Given the description of an element on the screen output the (x, y) to click on. 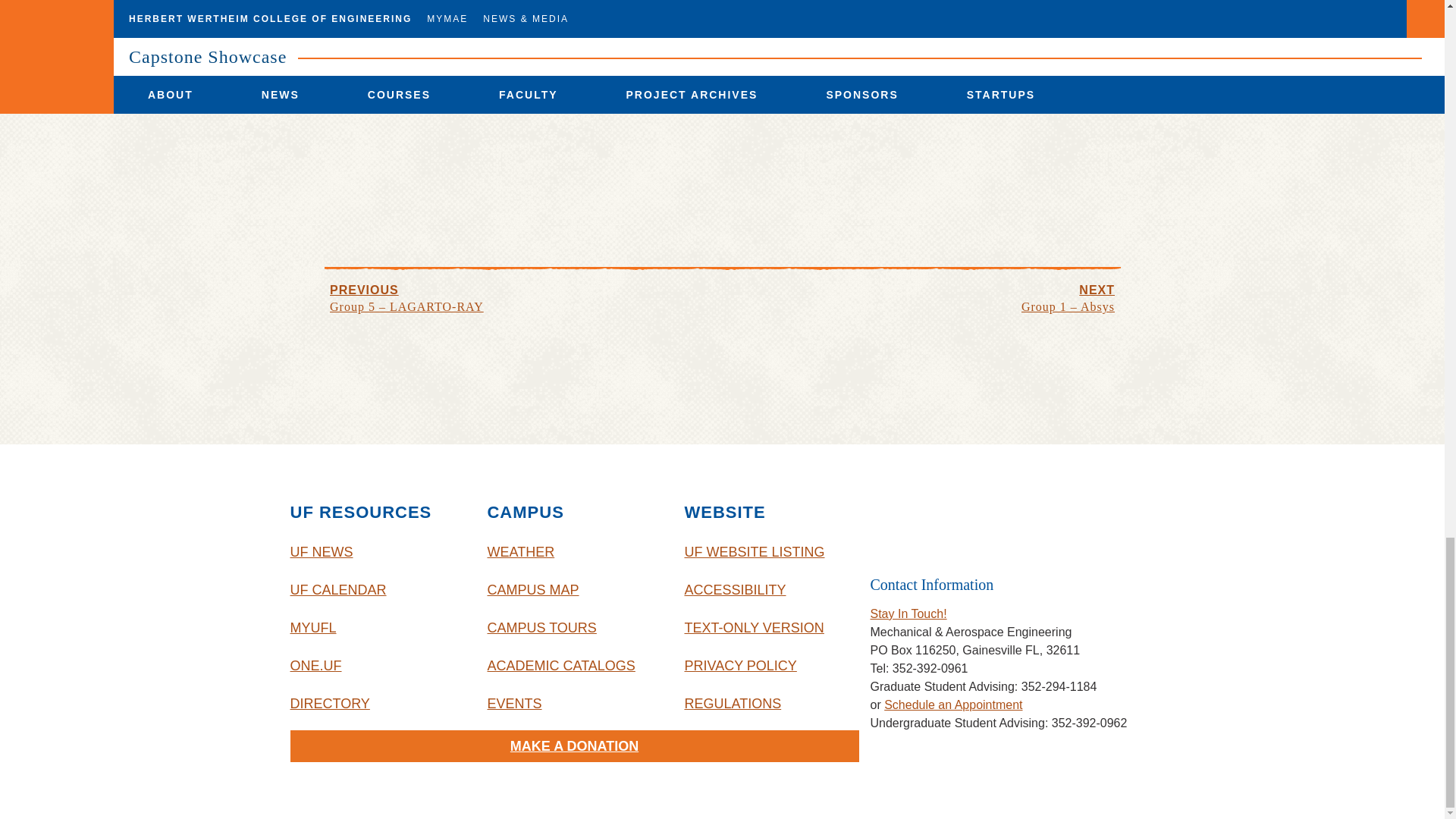
WEATHER (573, 551)
EVENTS (573, 703)
ONE.UF (376, 665)
Schedule an Appointment (952, 704)
DIRECTORY (376, 703)
MYUFL (376, 628)
CAMPUS MAP (573, 589)
UF NEWS (376, 551)
UF CALENDAR (376, 589)
